Given the description of an element on the screen output the (x, y) to click on. 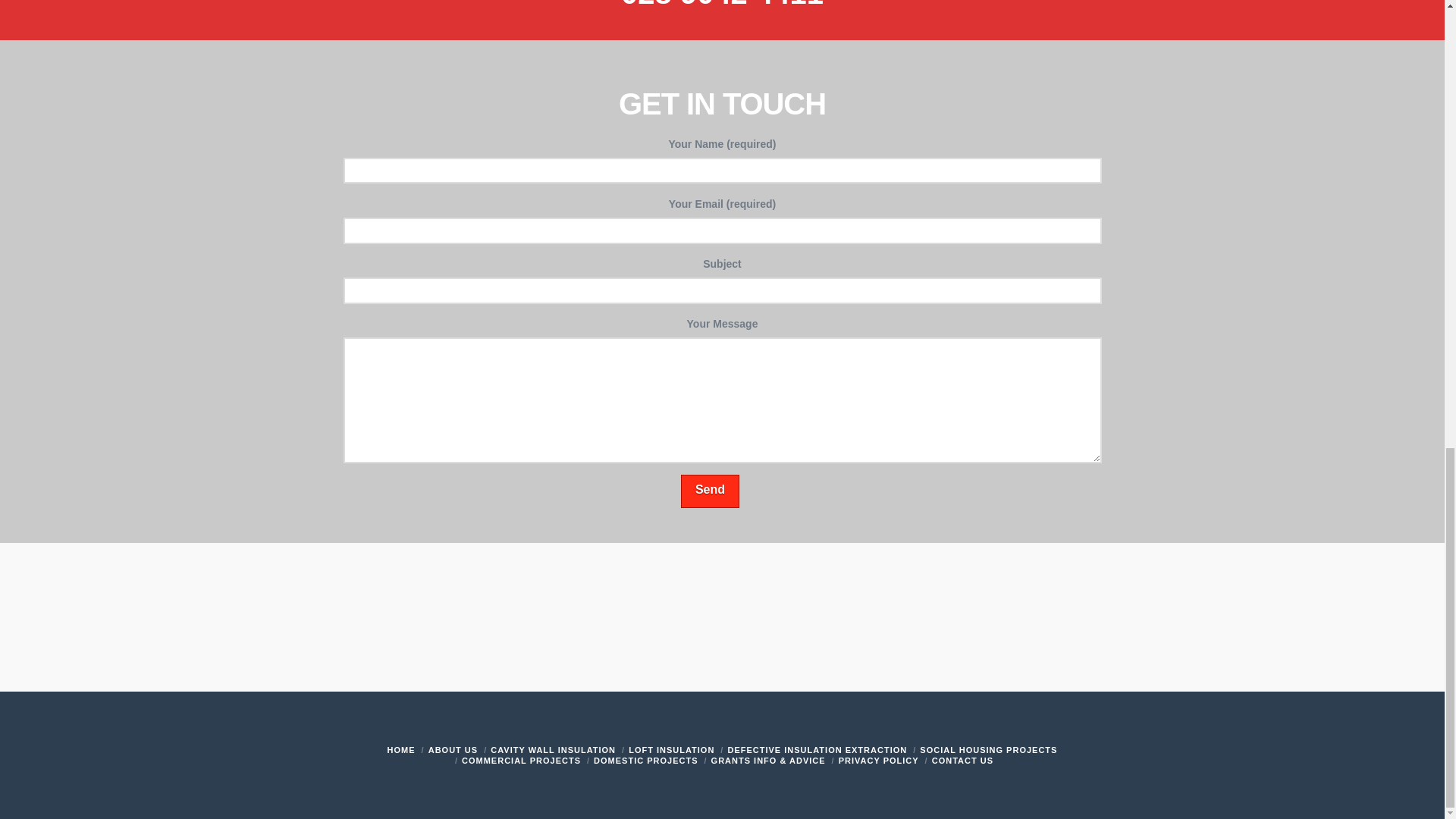
ABOUT US (452, 749)
LOFT INSULATION (671, 749)
HOME (400, 749)
Send (710, 491)
Send (710, 491)
CAVITY WALL INSULATION (552, 749)
